Given the description of an element on the screen output the (x, y) to click on. 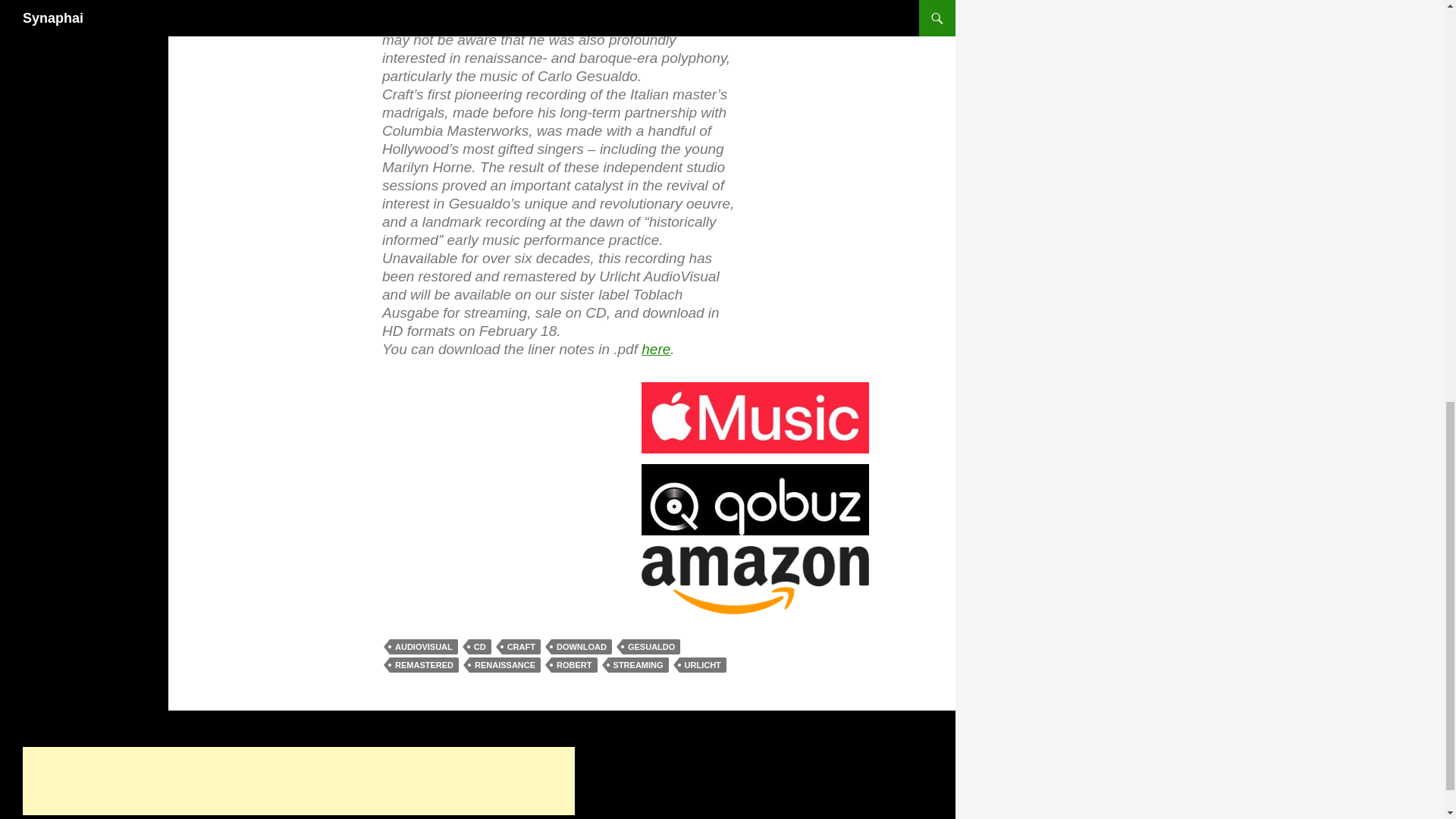
CRAFT (521, 646)
here (655, 349)
STREAMING (638, 664)
DOWNLOAD (581, 646)
CD (480, 646)
URLICHT (702, 664)
GESUALDO (651, 646)
AUDIOVISUAL (424, 646)
RENAISSANCE (504, 664)
REMASTERED (424, 664)
